Given the description of an element on the screen output the (x, y) to click on. 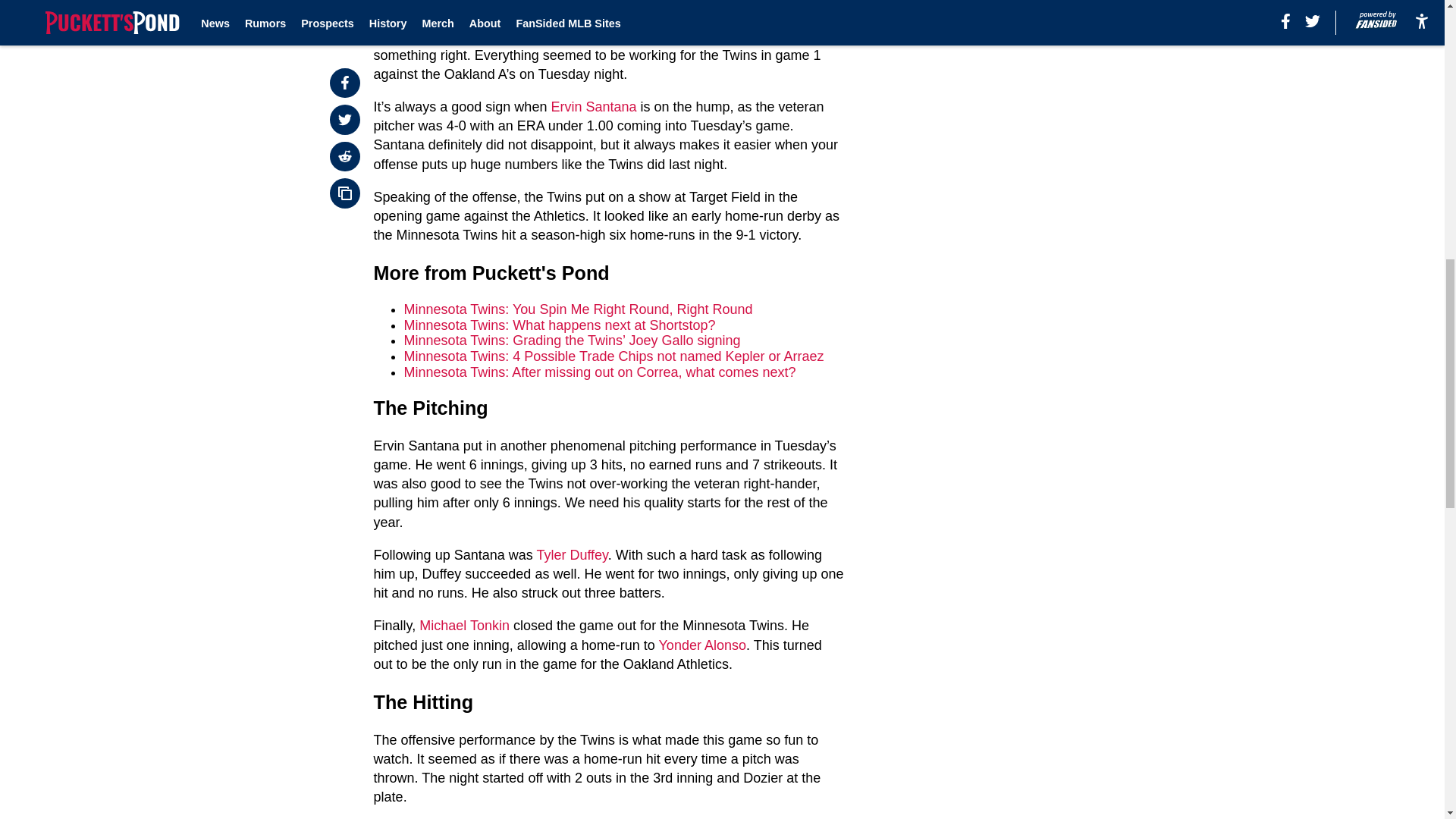
Yonder Alonso (702, 645)
Minnesota Twins: You Spin Me Right Round, Right Round (578, 309)
Michael Tonkin (464, 625)
Minnesota Twins: What happens next at Shortstop? (560, 324)
Ervin Santana (593, 106)
Tyler Duffey (571, 554)
